Given the description of an element on the screen output the (x, y) to click on. 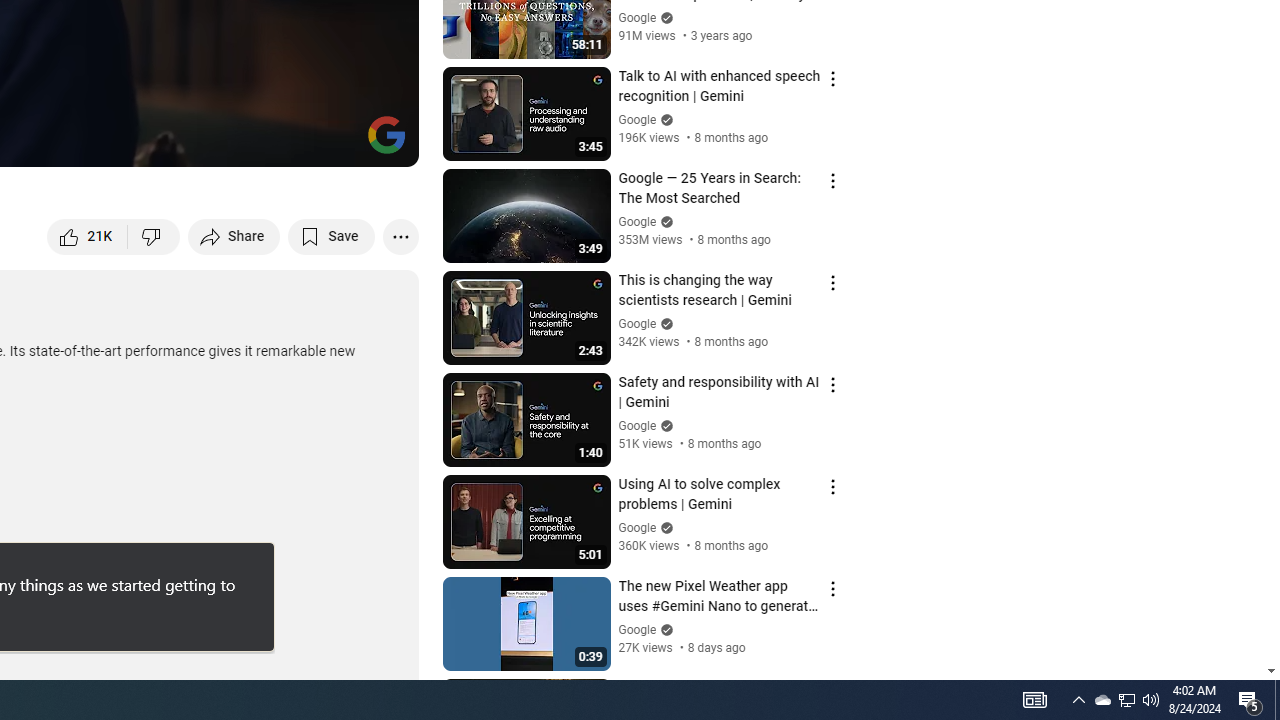
Settings (237, 142)
Channel watermark (386, 134)
More actions (399, 236)
Full screen (f) (382, 142)
Channel watermark (386, 134)
Theater mode (t) (333, 142)
like this video along with 21,118 other people (88, 236)
Dislike this video (154, 236)
Autoplay is on (141, 142)
Action menu (832, 690)
